Given the description of an element on the screen output the (x, y) to click on. 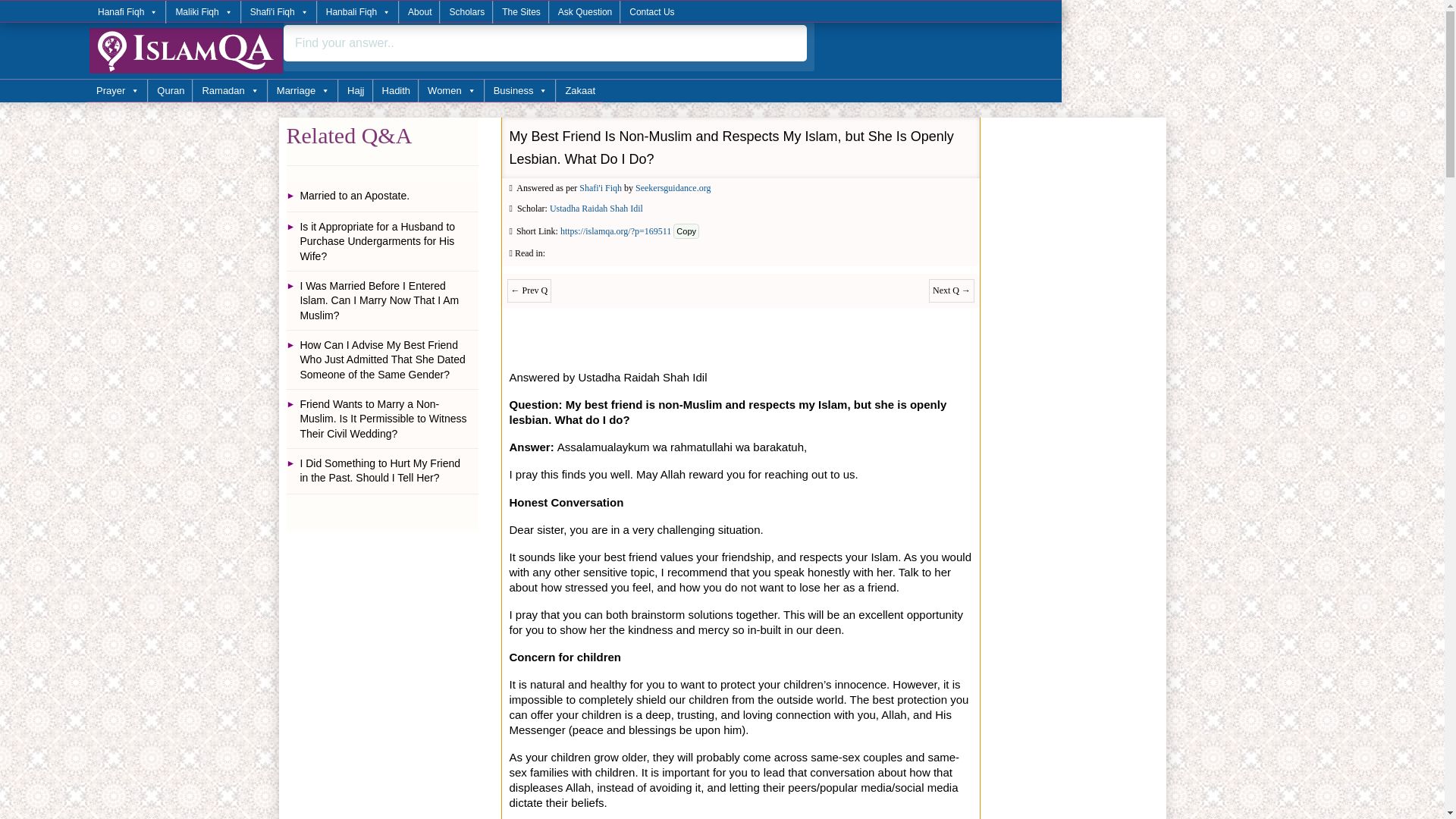
Ustadha Raidah Shah Idil (596, 208)
Hanafi Fiqh (126, 11)
Maliki Fiqh (202, 11)
